Given the description of an element on the screen output the (x, y) to click on. 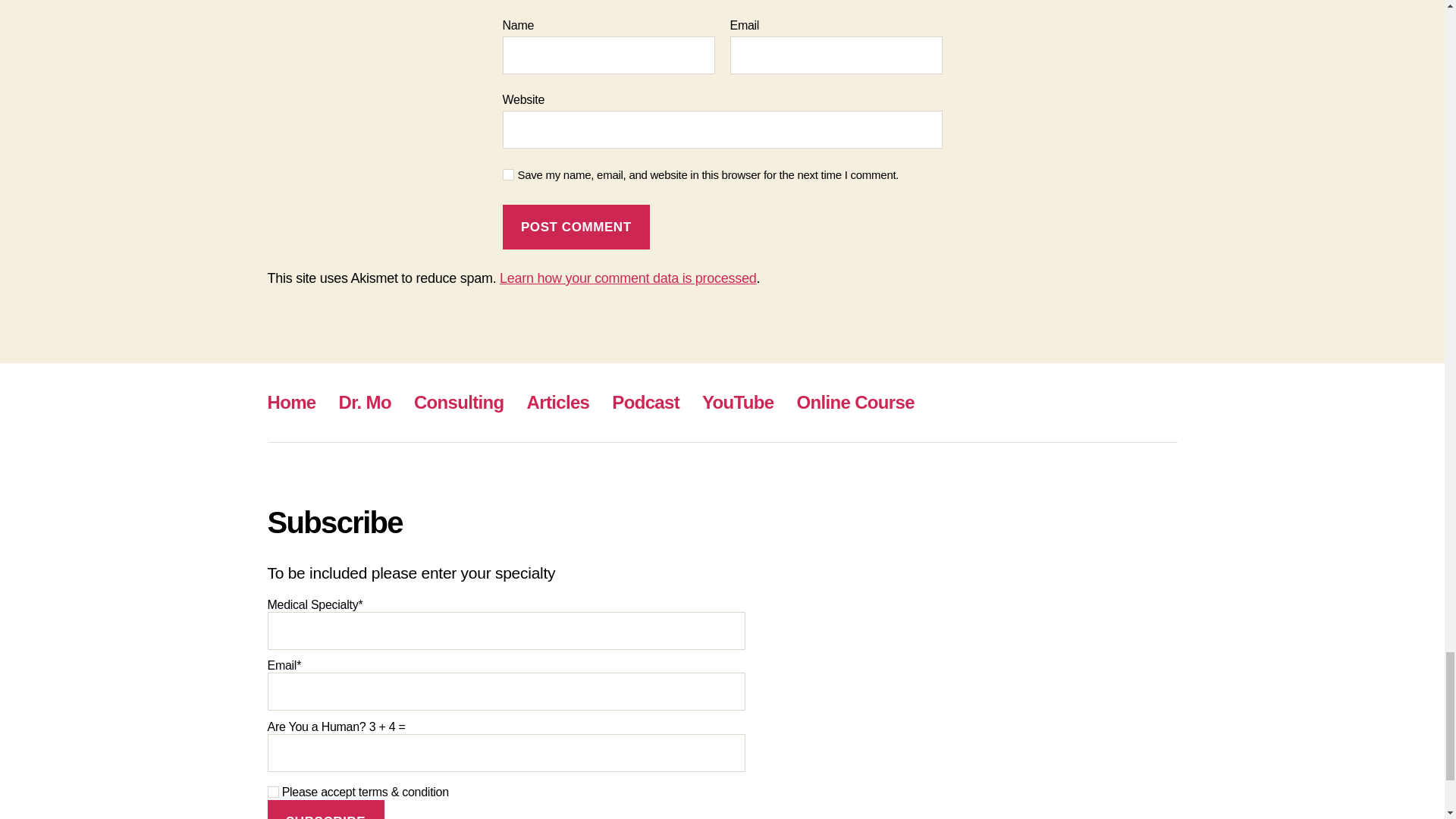
Subscribe (325, 809)
yes (507, 173)
Post Comment (575, 226)
true (272, 791)
A little about me and my timeline. (365, 402)
